Given the description of an element on the screen output the (x, y) to click on. 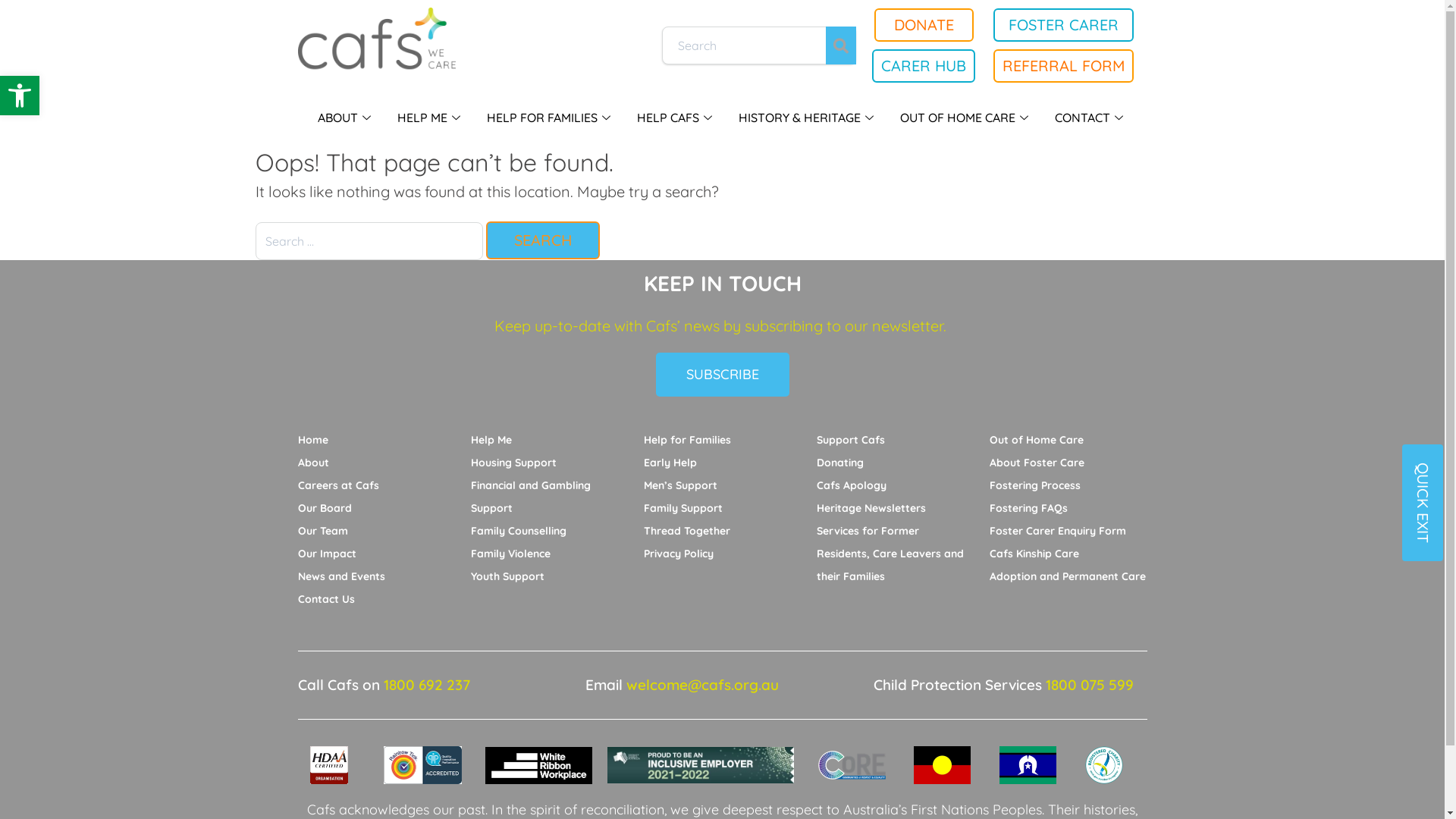
HISTORY & HERITAGE Element type: text (807, 117)
1800 692 237 Element type: text (426, 684)
Family Violence Element type: text (509, 553)
Foster Carer Enquiry Form Element type: text (1056, 530)
Our Team Element type: text (322, 530)
Privacy Policy Element type: text (677, 553)
1800 075 599 Element type: text (1089, 684)
Cafs Apology Element type: text (850, 485)
About Foster Care Element type: text (1035, 462)
Housing Support Element type: text (512, 462)
Youth Support Element type: text (506, 576)
SUBSCRIBE Element type: text (721, 374)
Our Board Element type: text (324, 507)
Home Element type: text (312, 439)
Financial and Gambling Support Element type: text (529, 496)
Thread Together Element type: text (686, 530)
Support Cafs Element type: text (849, 439)
OUT OF HOME CARE Element type: text (965, 117)
Our Impact Element type: text (326, 553)
Fostering Process Element type: text (1033, 485)
HELP ME Element type: text (430, 117)
HELP CAFS Element type: text (676, 117)
HELP FOR FAMILIES Element type: text (550, 117)
News and Events Element type: text (340, 576)
About Element type: text (312, 462)
Out of Home Care Element type: text (1035, 439)
Adoption and Permanent Care Element type: text (1066, 576)
welcome@cafs.org.au Element type: text (702, 684)
Search Element type: text (542, 240)
CONTACT Element type: text (1090, 117)
Contact Us Element type: text (325, 598)
Careers at Cafs Element type: text (337, 485)
Open toolbar Element type: text (19, 95)
Family Support Element type: text (682, 507)
FOSTER CARER Element type: text (1063, 24)
Help Me Element type: text (490, 439)
REFERRAL FORM Element type: text (1063, 65)
Cafs Kinship Care Element type: text (1033, 553)
DONATE Element type: text (923, 24)
ABOUT Element type: text (345, 117)
Family Counselling Element type: text (517, 530)
CARER HUB Element type: text (923, 65)
Early Help Element type: text (669, 462)
Fostering FAQs Element type: text (1027, 507)
Help for Families Element type: text (686, 439)
Donating Element type: text (838, 462)
Heritage Newsletters Element type: text (870, 507)
